Given the description of an element on the screen output the (x, y) to click on. 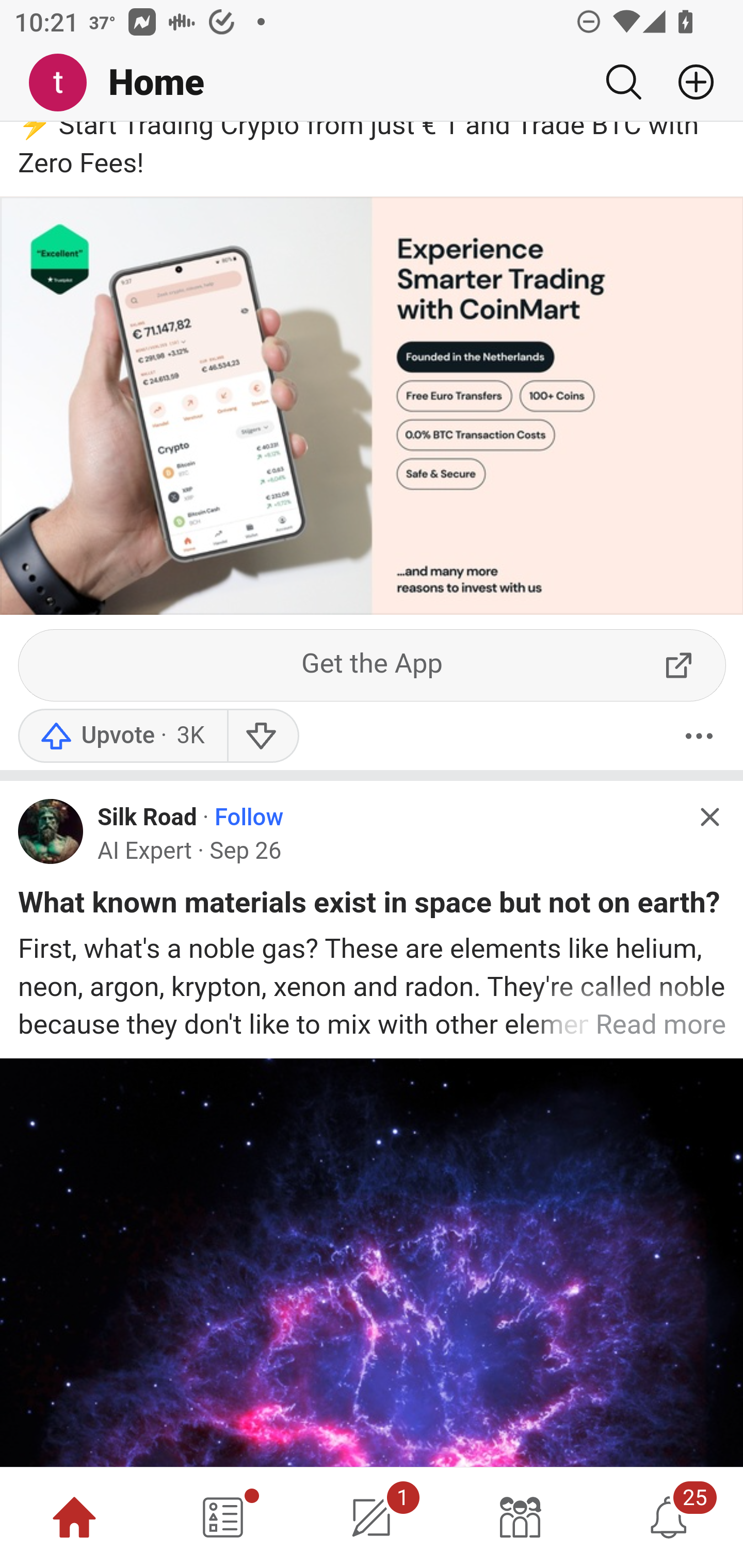
Me Home Search Add (371, 82)
Me (64, 83)
Search (623, 82)
Add (688, 82)
Get the App ExternalLink (372, 665)
Upvote (122, 736)
Downvote (262, 736)
More (699, 736)
Hide (709, 817)
Profile photo for Silk Road (50, 831)
Silk Road (147, 817)
Follow (249, 817)
1 (371, 1517)
25 (668, 1517)
